Given the description of an element on the screen output the (x, y) to click on. 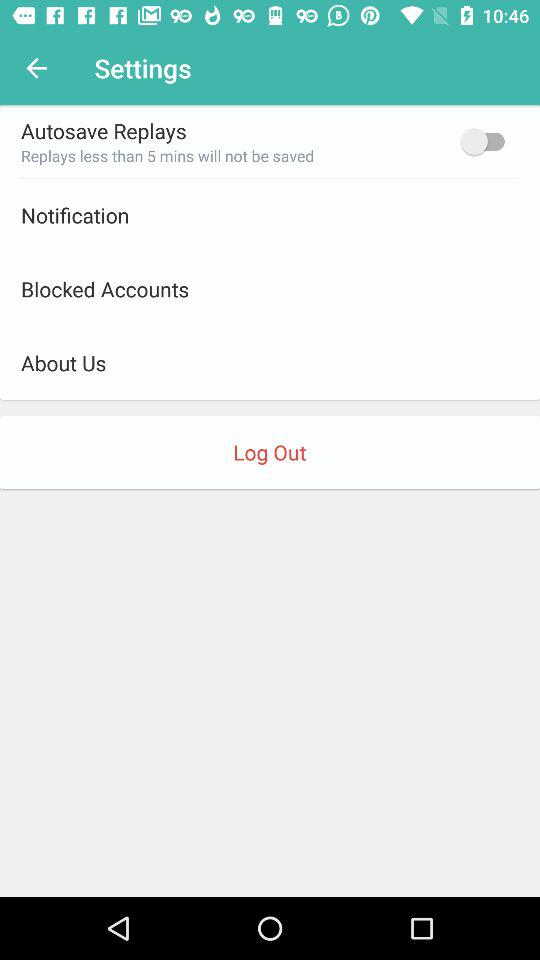
press item above autosave replays (36, 68)
